Given the description of an element on the screen output the (x, y) to click on. 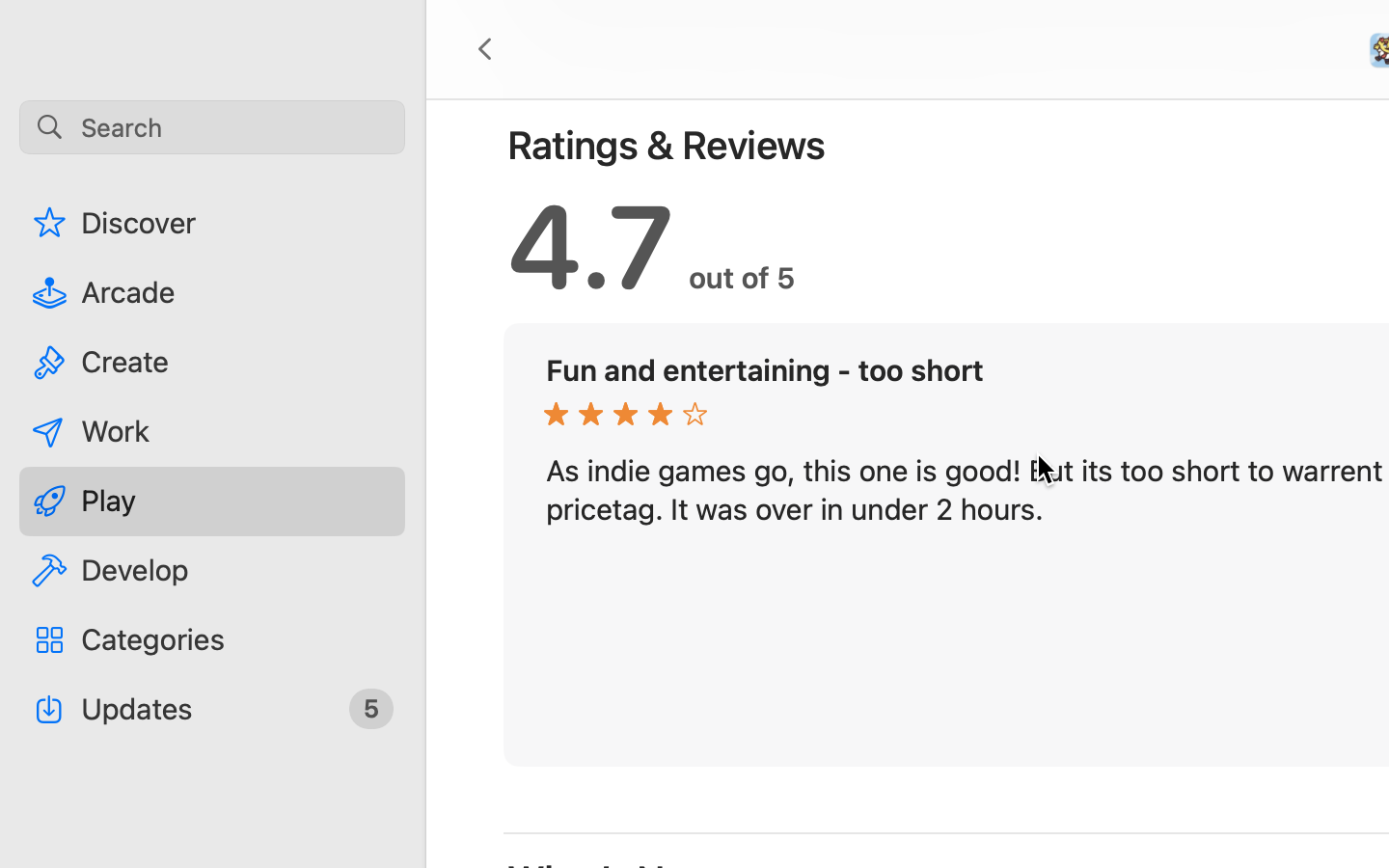
Ratings & Reviews Element type: AXStaticText (667, 144)
